Given the description of an element on the screen output the (x, y) to click on. 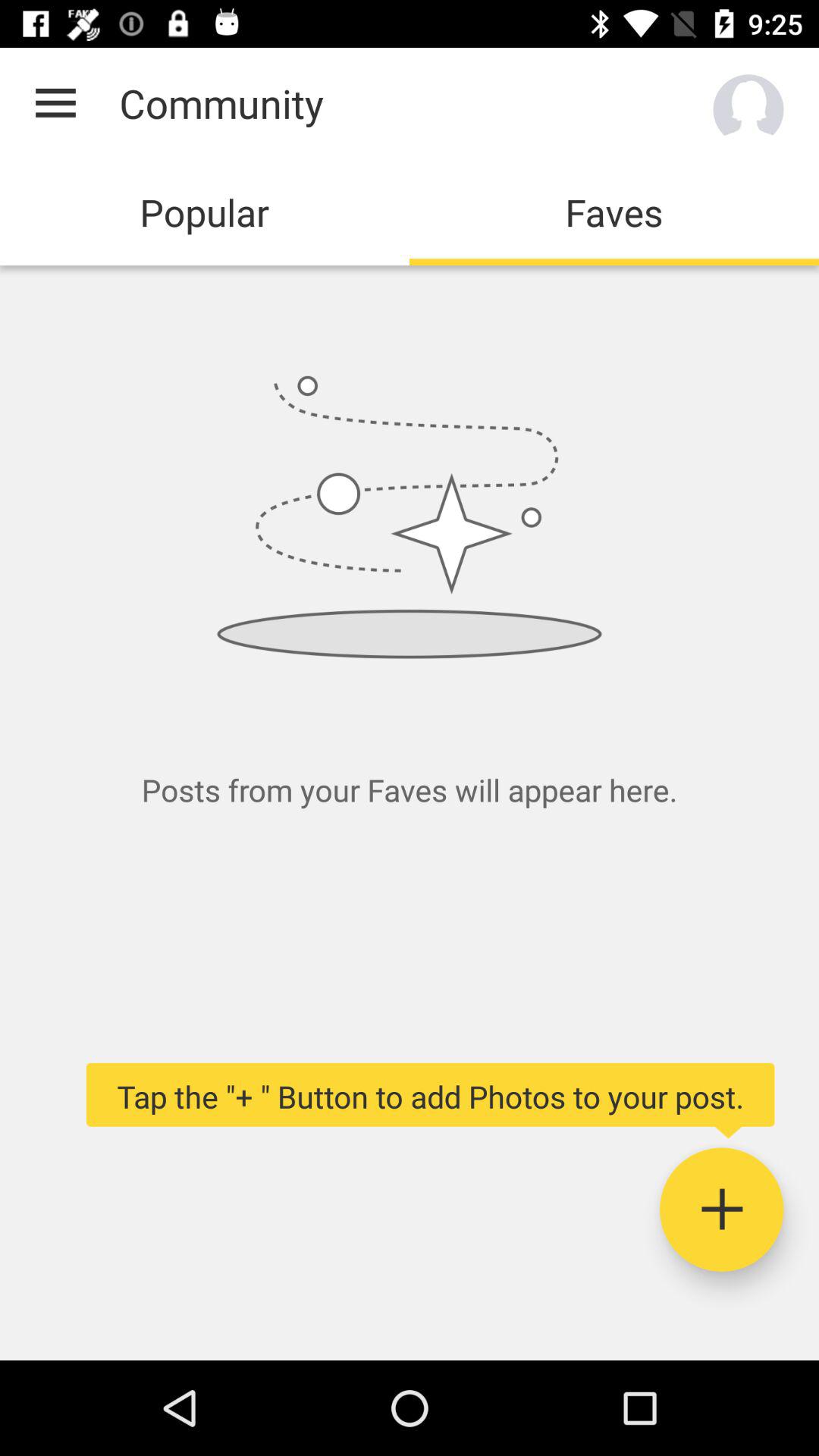
share the article (721, 1209)
